Given the description of an element on the screen output the (x, y) to click on. 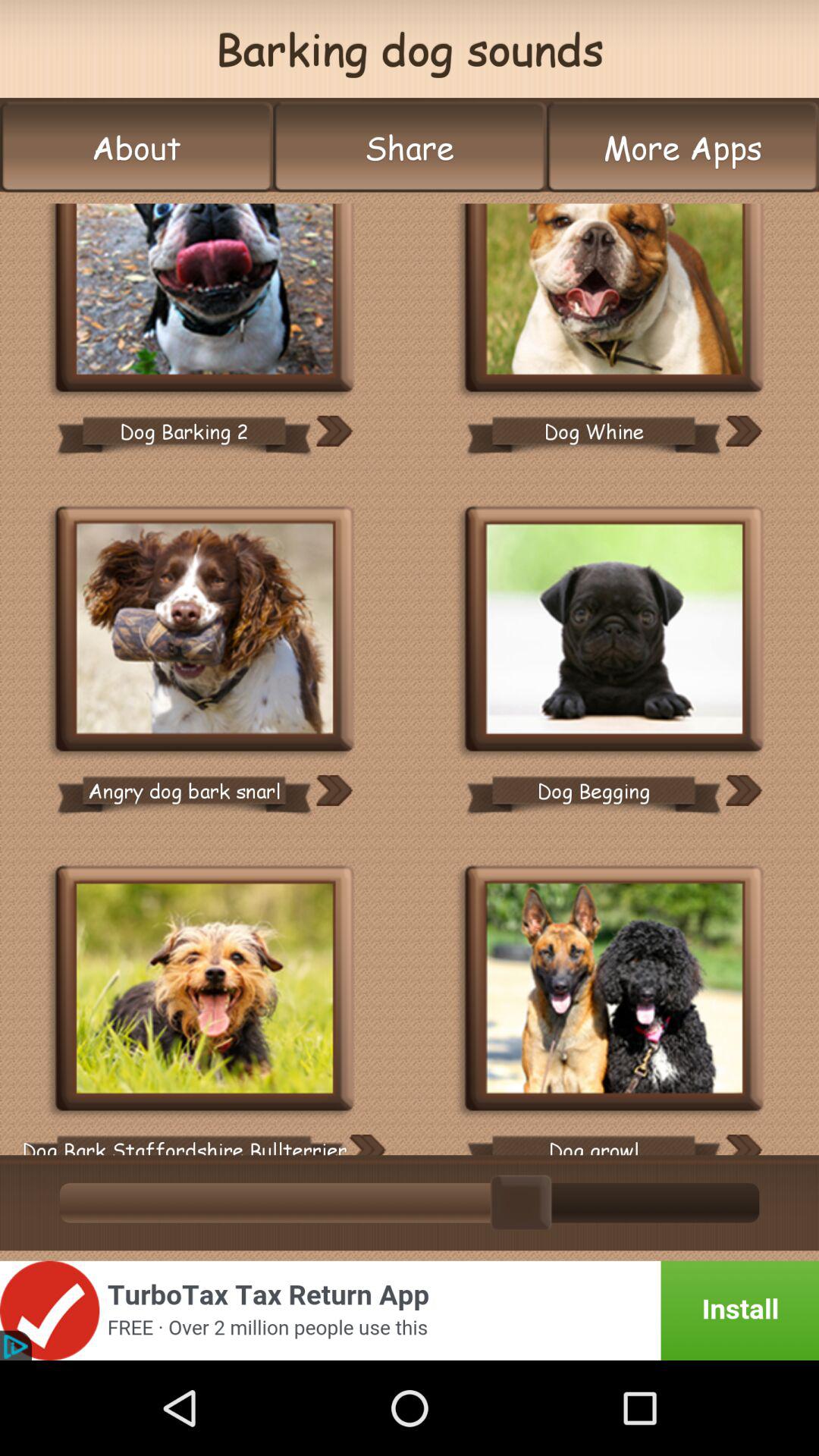
switch to next (366, 1144)
